Given the description of an element on the screen output the (x, y) to click on. 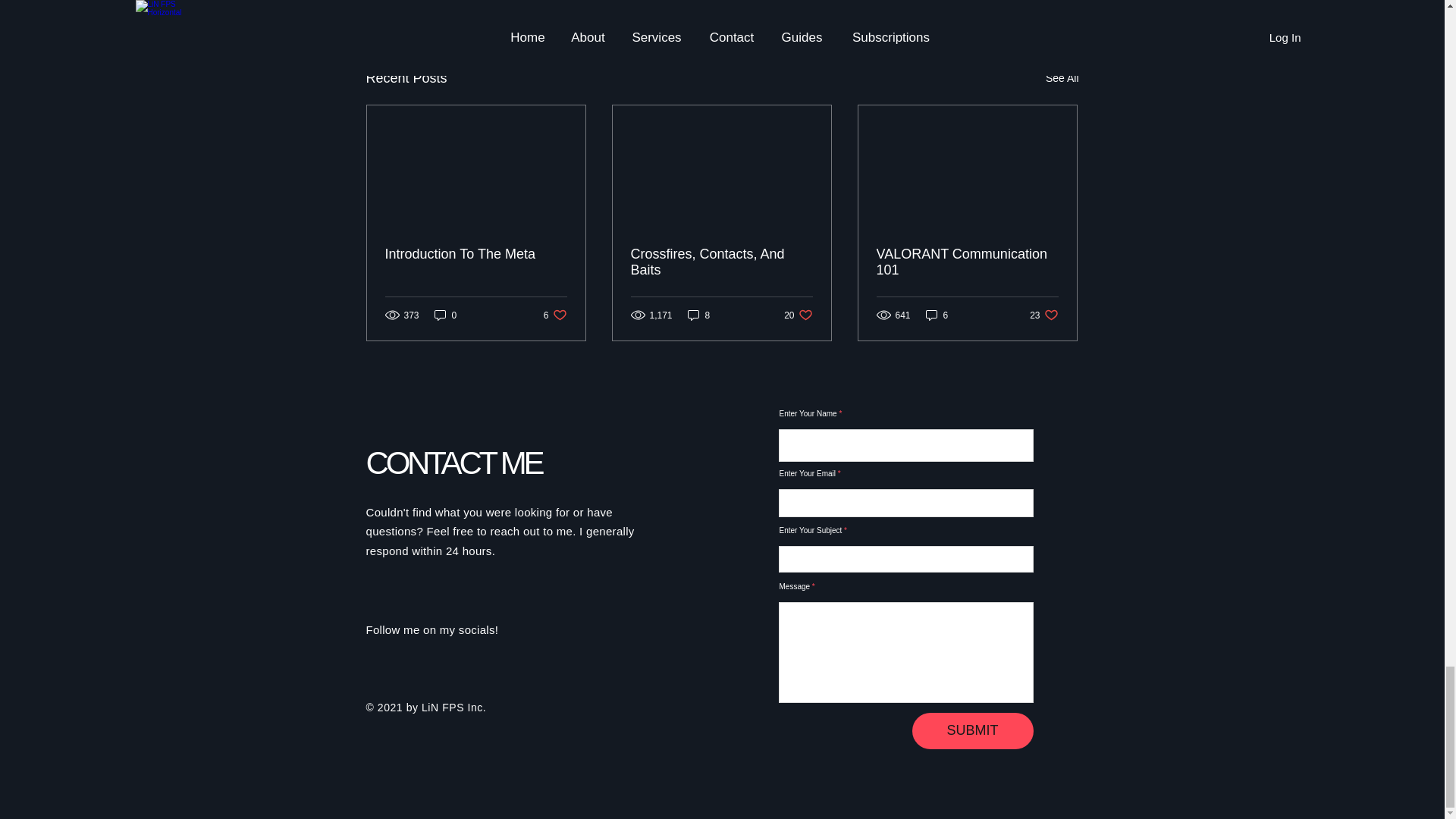
Introduction To The Meta (476, 254)
0 (555, 314)
Crossfires, Contacts, And Baits (445, 314)
8 (721, 262)
See All (990, 1)
